Given the description of an element on the screen output the (x, y) to click on. 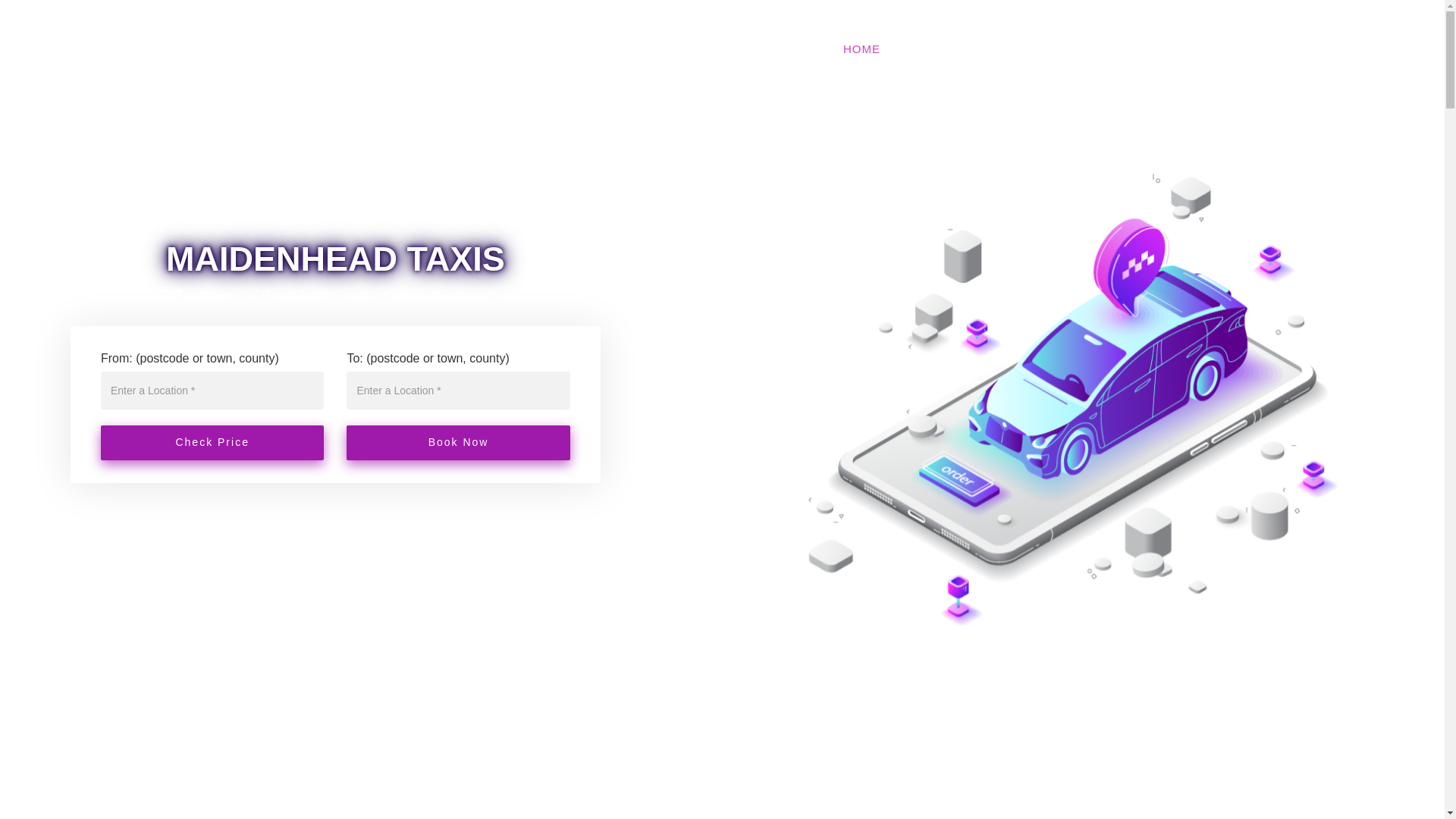
SPECIAL RATES (1195, 48)
SPECIAL RATES (1195, 48)
CONTACT (1344, 48)
HOME (861, 48)
ABOUT (924, 48)
CONTACT (1344, 48)
BOOKING (1094, 48)
HOME (861, 48)
GET QUOTE (1006, 48)
FAQ (1279, 48)
